Given the description of an element on the screen output the (x, y) to click on. 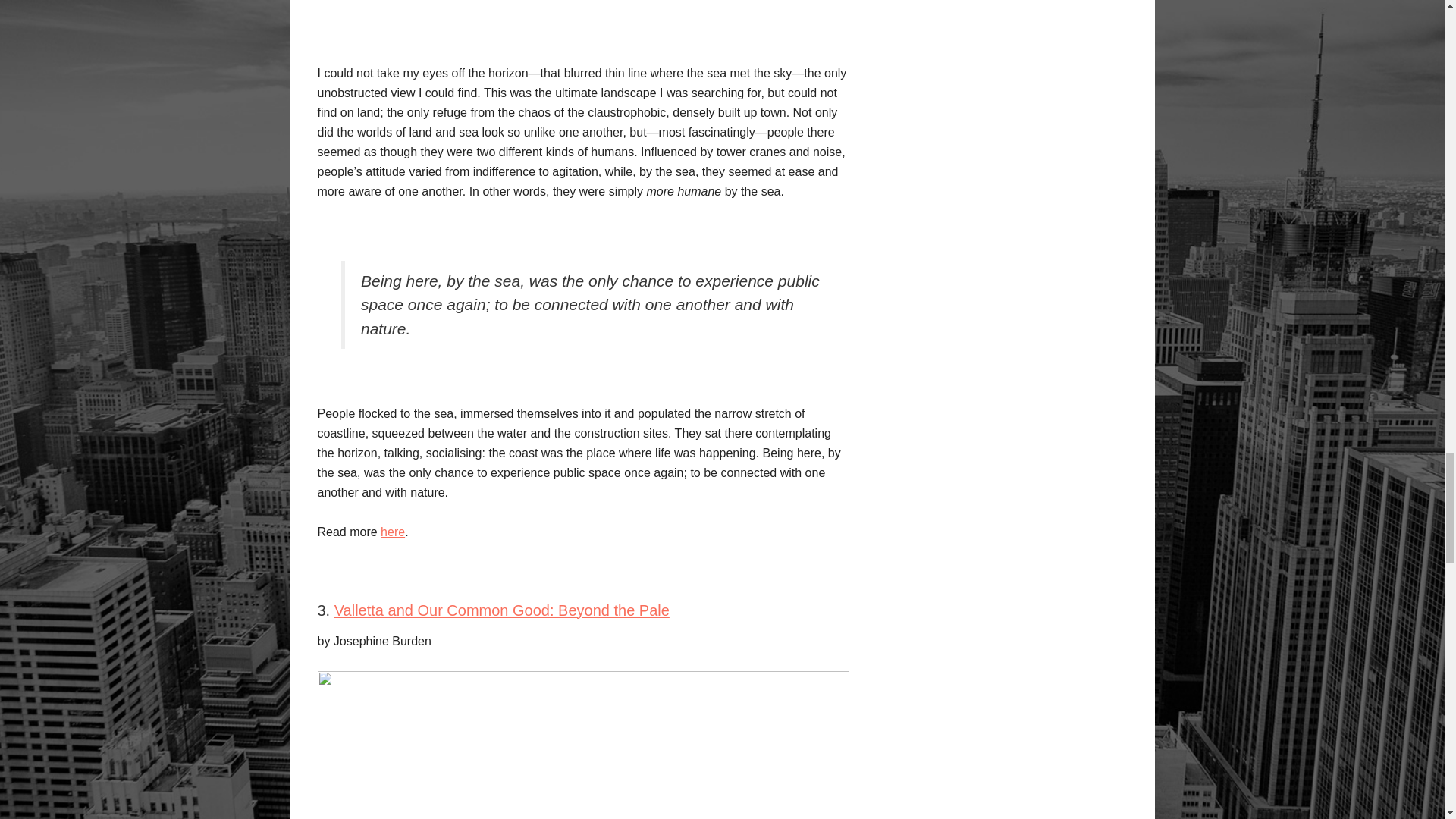
Valletta and Our Common Good: Beyond the Pale (501, 610)
here (392, 531)
